Given the description of an element on the screen output the (x, y) to click on. 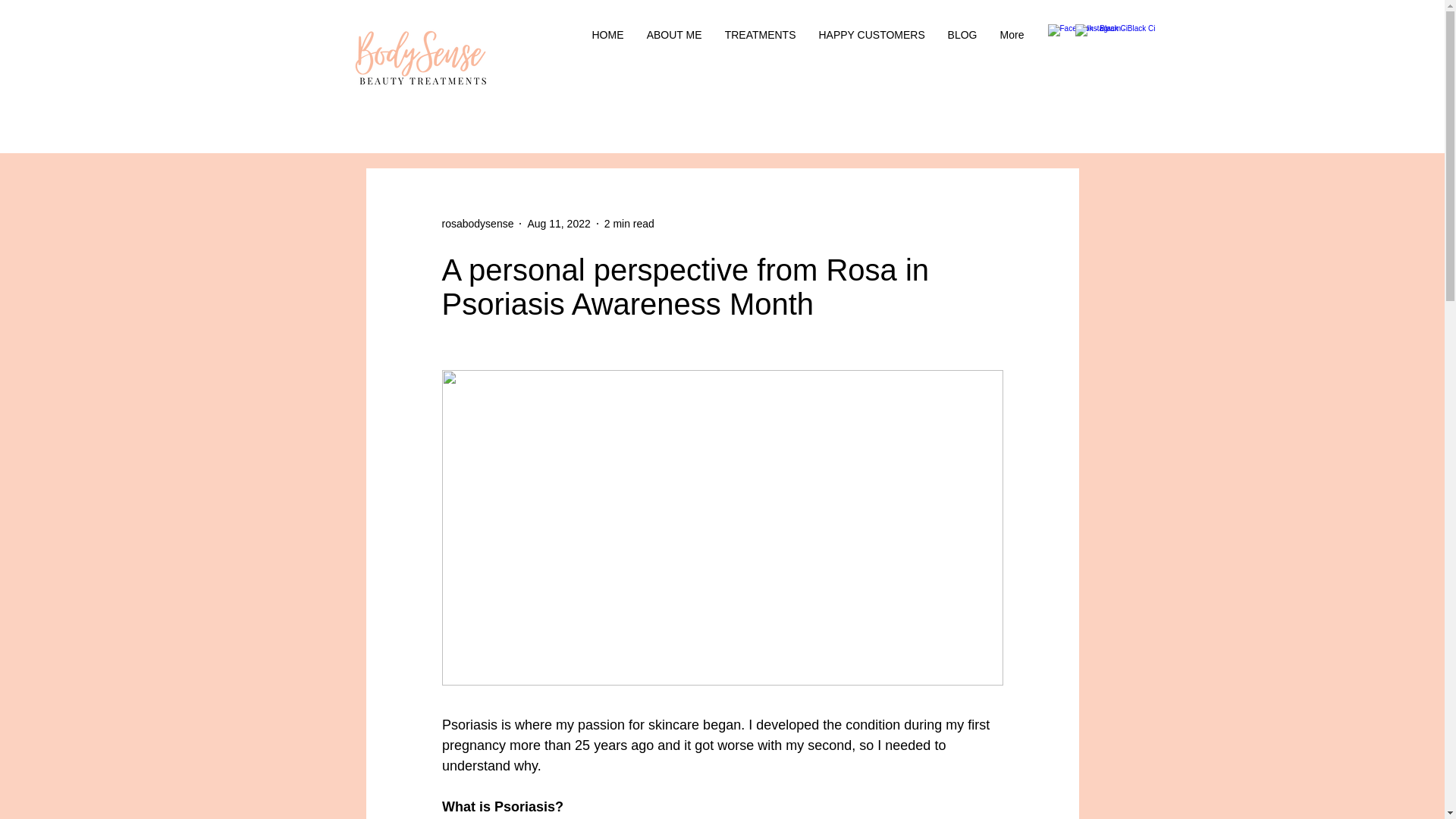
HAPPY CUSTOMERS (871, 35)
rosabodysense (477, 222)
HOME (607, 35)
rosabodysense (477, 222)
TREATMENTS (759, 35)
2 min read (628, 223)
ABOUT ME (673, 35)
Aug 11, 2022 (558, 223)
BLOG (962, 35)
